Given the description of an element on the screen output the (x, y) to click on. 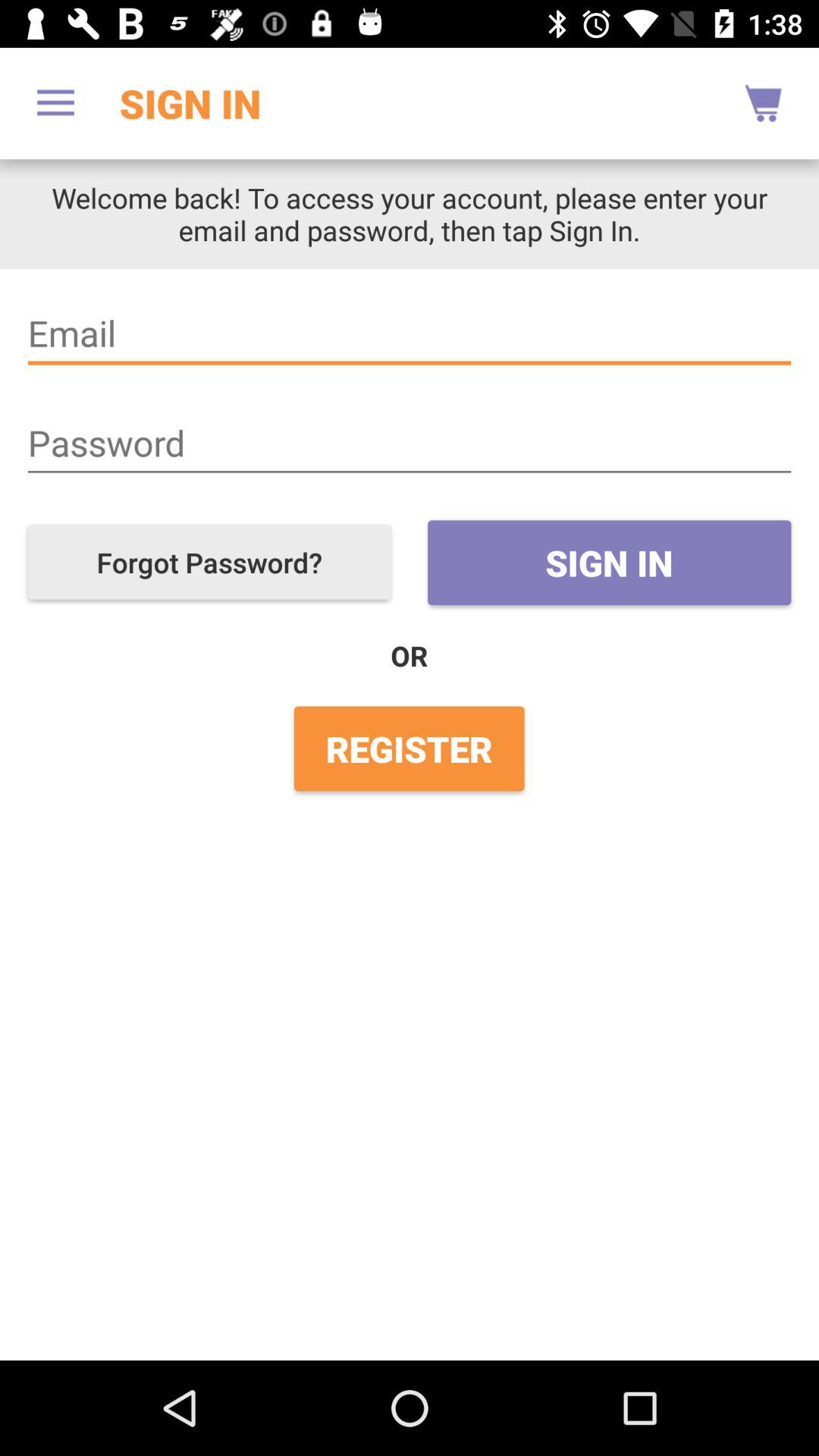
swipe to the forgot password? item (209, 562)
